Given the description of an element on the screen output the (x, y) to click on. 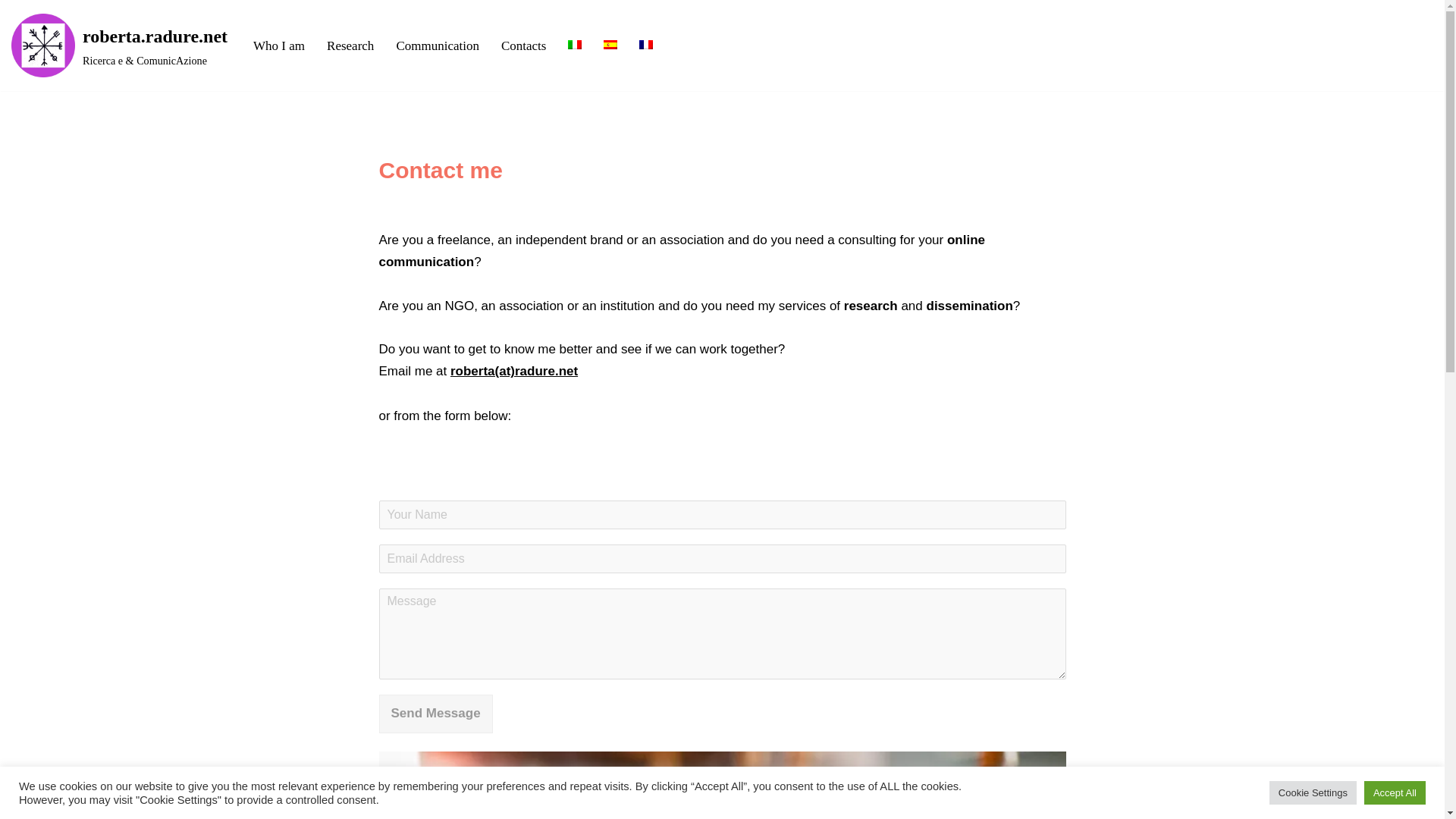
Accept All (1394, 792)
Skip to content (11, 31)
Who I am (278, 45)
Cookie Settings (1312, 792)
Send Message (435, 713)
Research (350, 45)
Communication (437, 45)
Contacts (523, 45)
